Given the description of an element on the screen output the (x, y) to click on. 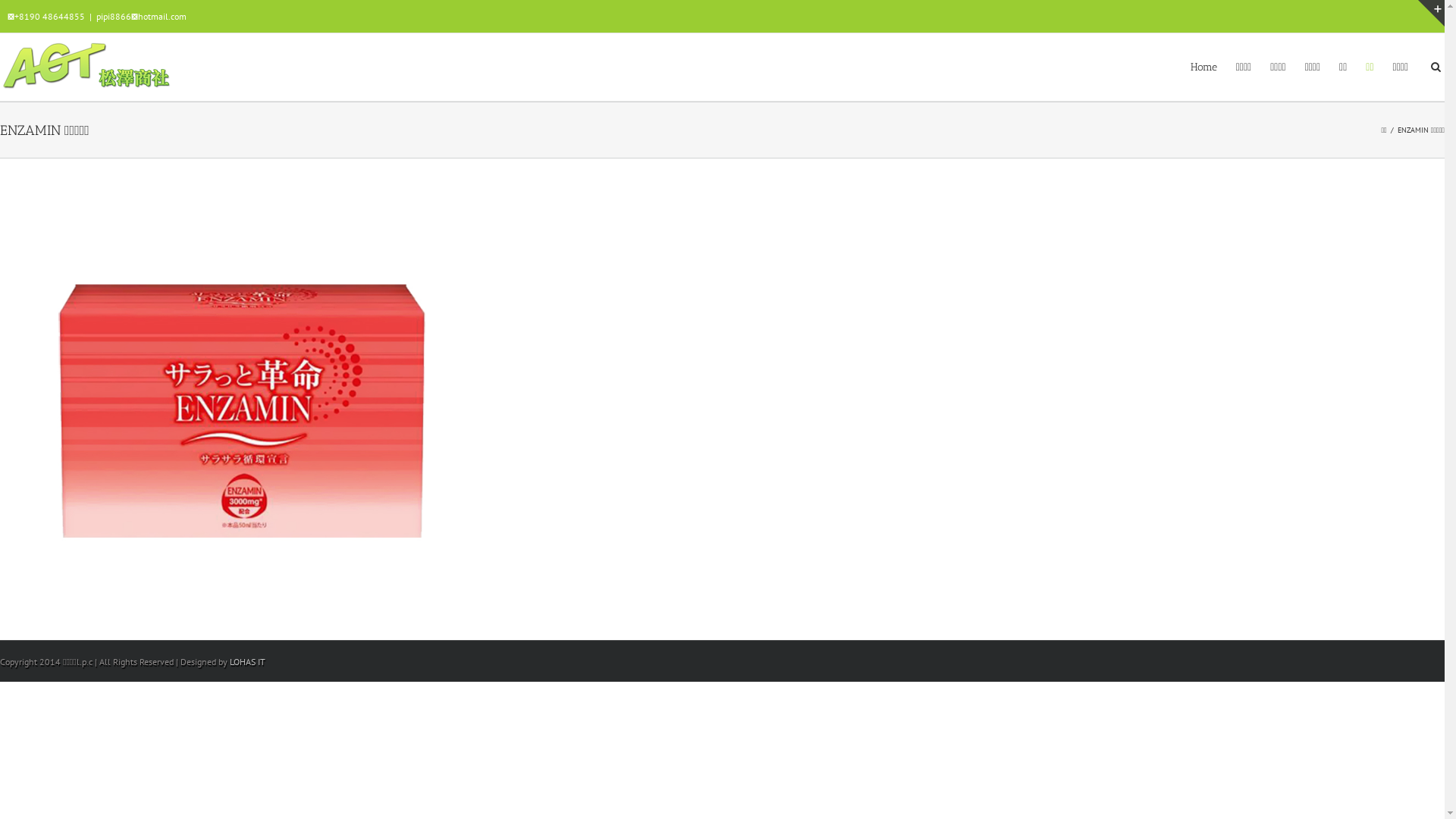
Home Element type: text (1203, 65)
LOHAS IT Element type: text (247, 661)
